Given the description of an element on the screen output the (x, y) to click on. 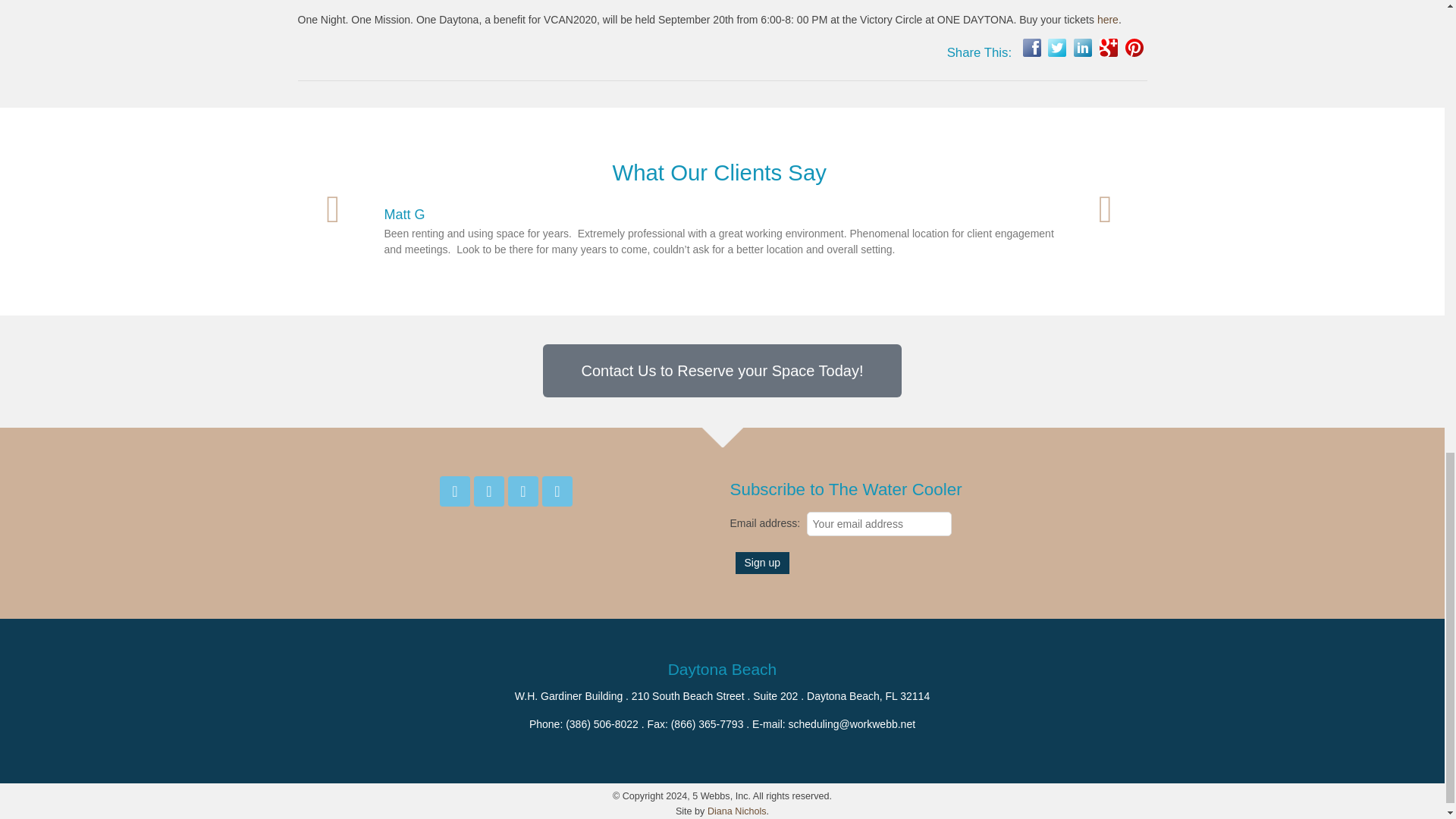
Diana Nichols (737, 810)
Matt G (404, 214)
Sign up (762, 563)
Sign up (762, 563)
Contact Us to Reserve your Space Today! (722, 370)
Share this with your Twitter followers (1056, 47)
Share this post on Facebook (1032, 47)
here (1107, 19)
